Given the description of an element on the screen output the (x, y) to click on. 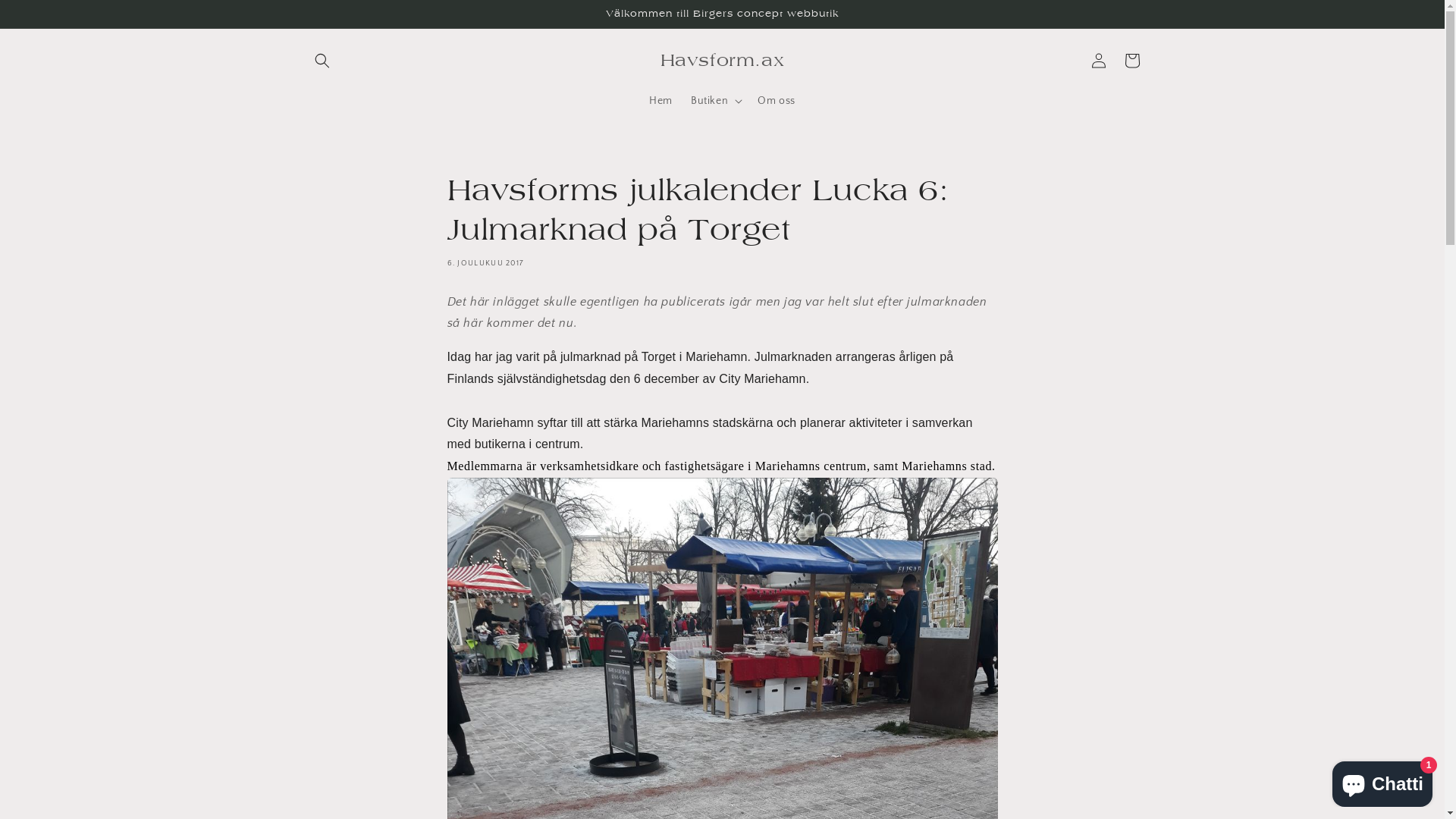
Om oss Element type: text (776, 100)
Hem Element type: text (660, 100)
Ostoskori Element type: text (1131, 60)
Havsform.ax Element type: text (722, 60)
Shopify-verkkokaupan chatti Element type: hover (1382, 780)
